Given the description of an element on the screen output the (x, y) to click on. 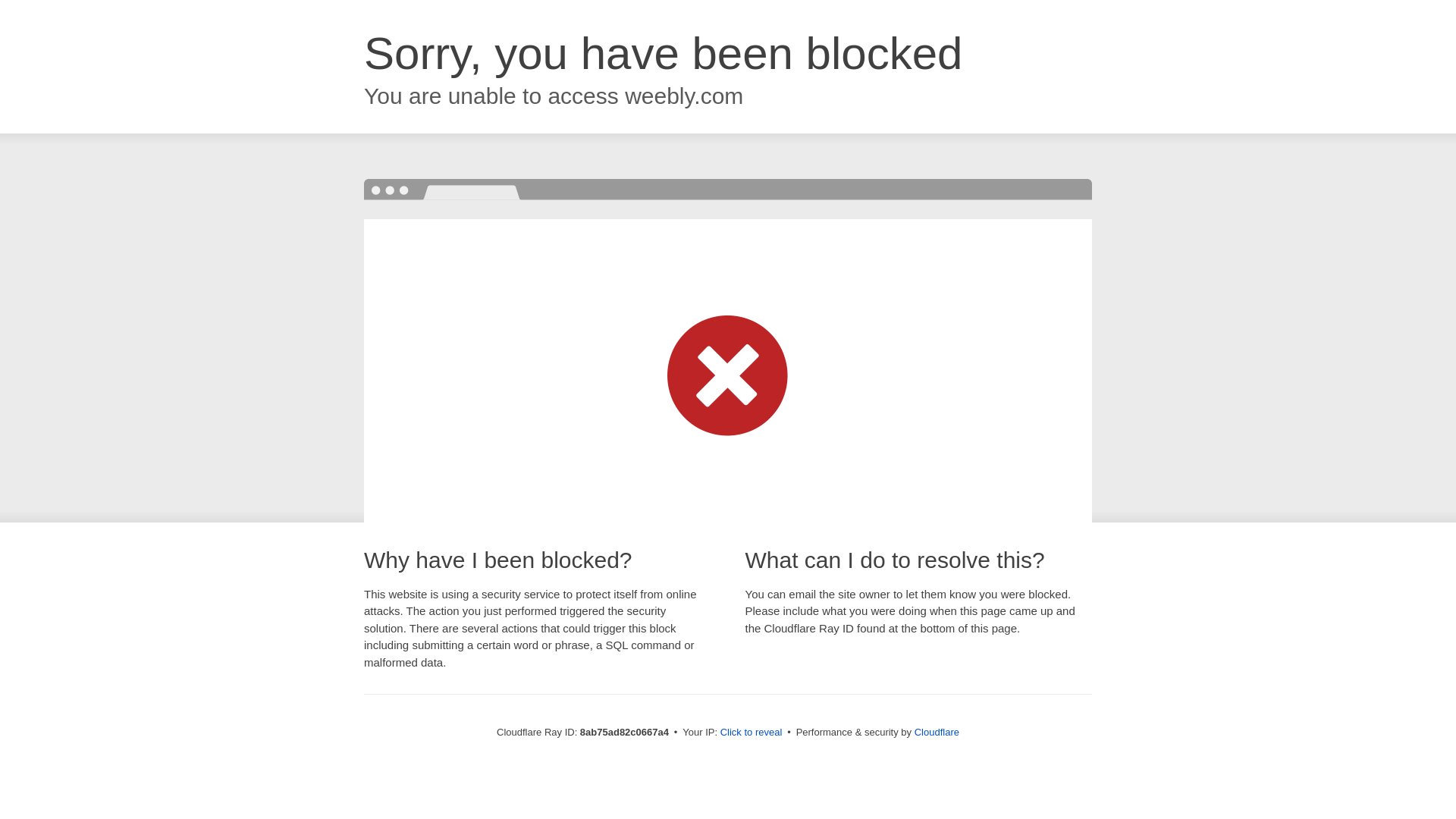
Click to reveal (751, 732)
Cloudflare (936, 731)
